Given the description of an element on the screen output the (x, y) to click on. 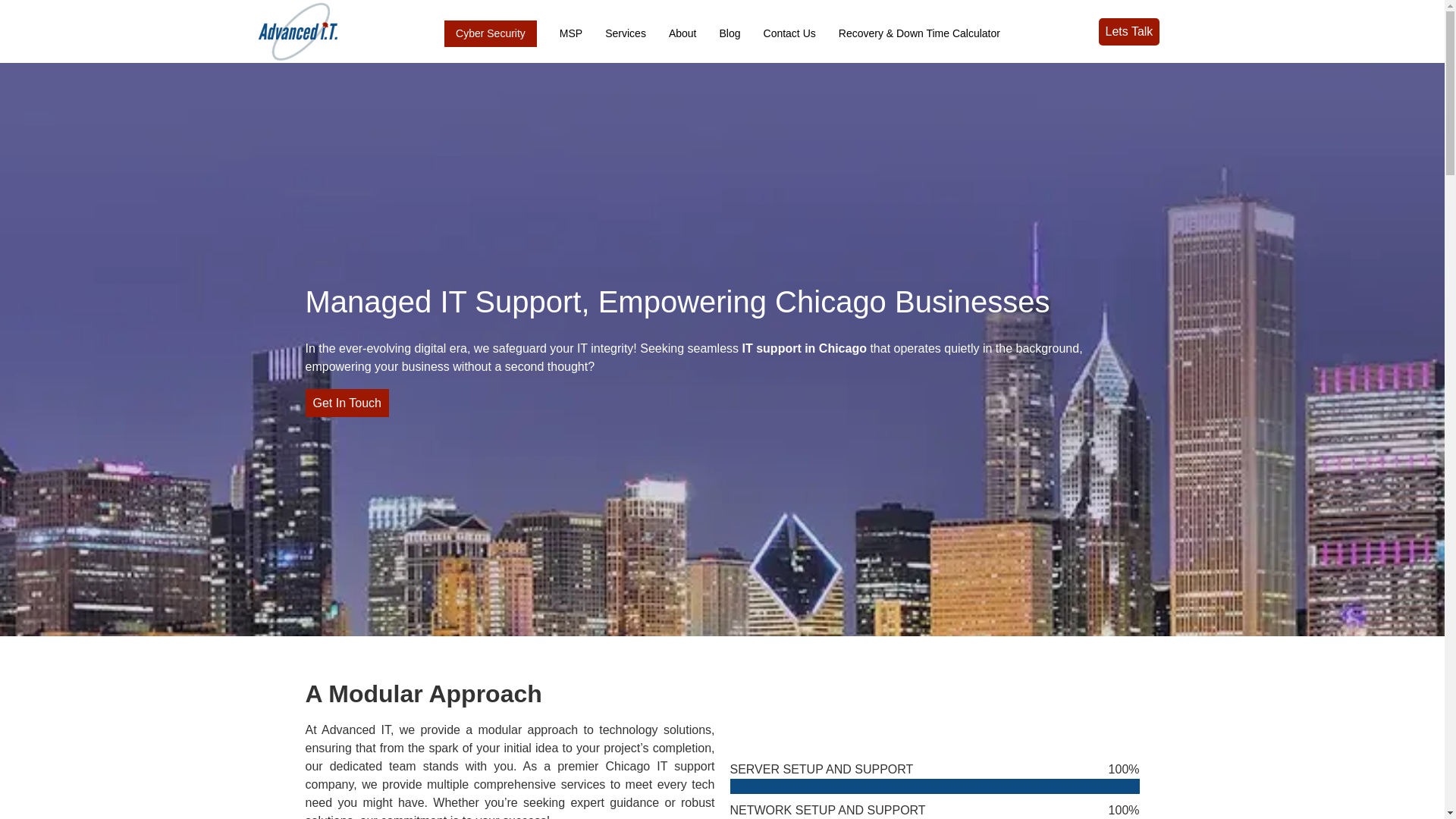
MSP (571, 32)
About (682, 32)
Cyber Security (490, 32)
Services (626, 32)
Get In Touch (346, 402)
Lets Talk (1127, 31)
Contact Us (789, 32)
Blog (729, 32)
